Given the description of an element on the screen output the (x, y) to click on. 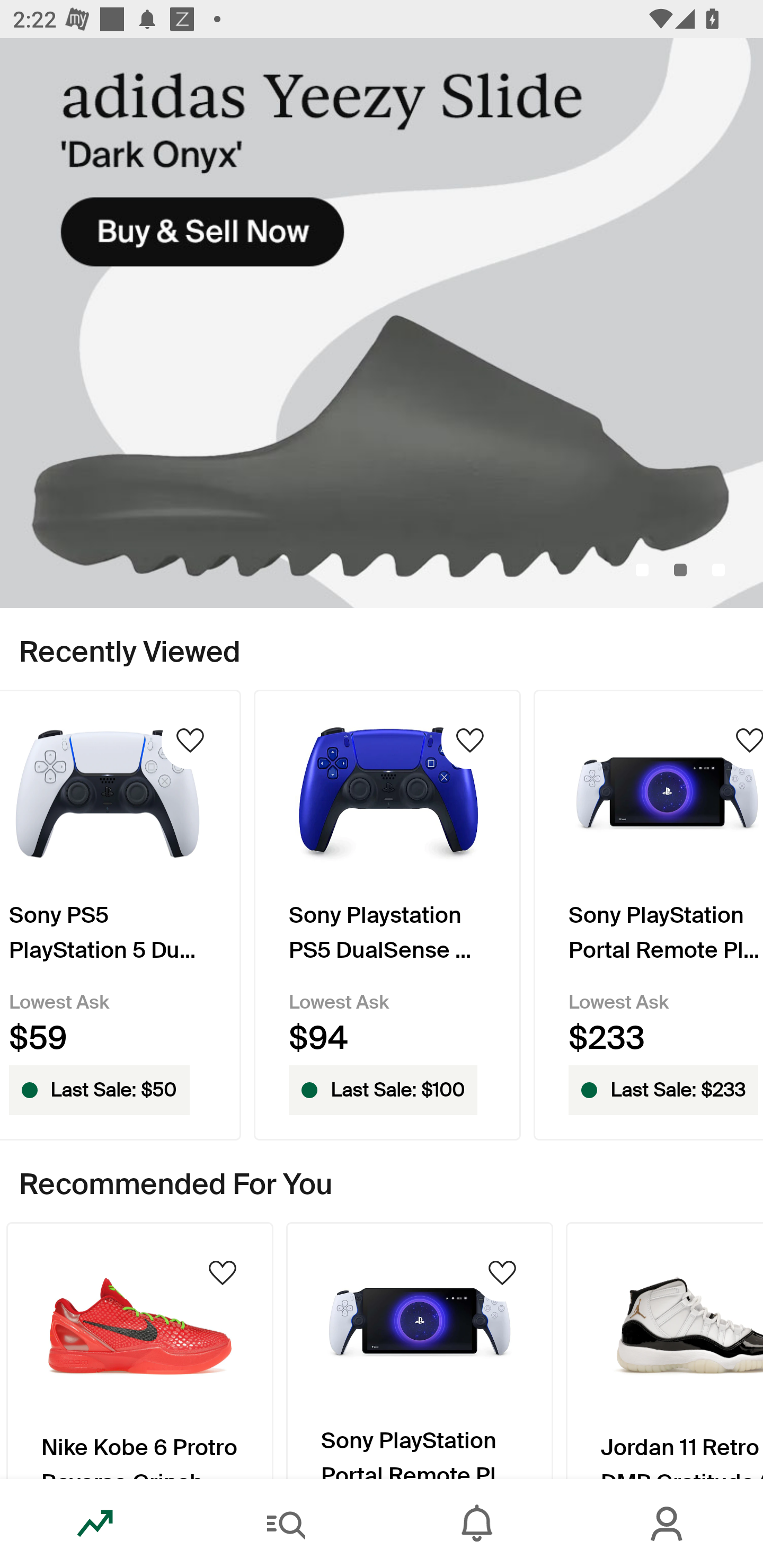
Product Image Nike Kobe 6 Protro Reverse Grinch (139, 1349)
Search (285, 1523)
Inbox (476, 1523)
Account (667, 1523)
